Given the description of an element on the screen output the (x, y) to click on. 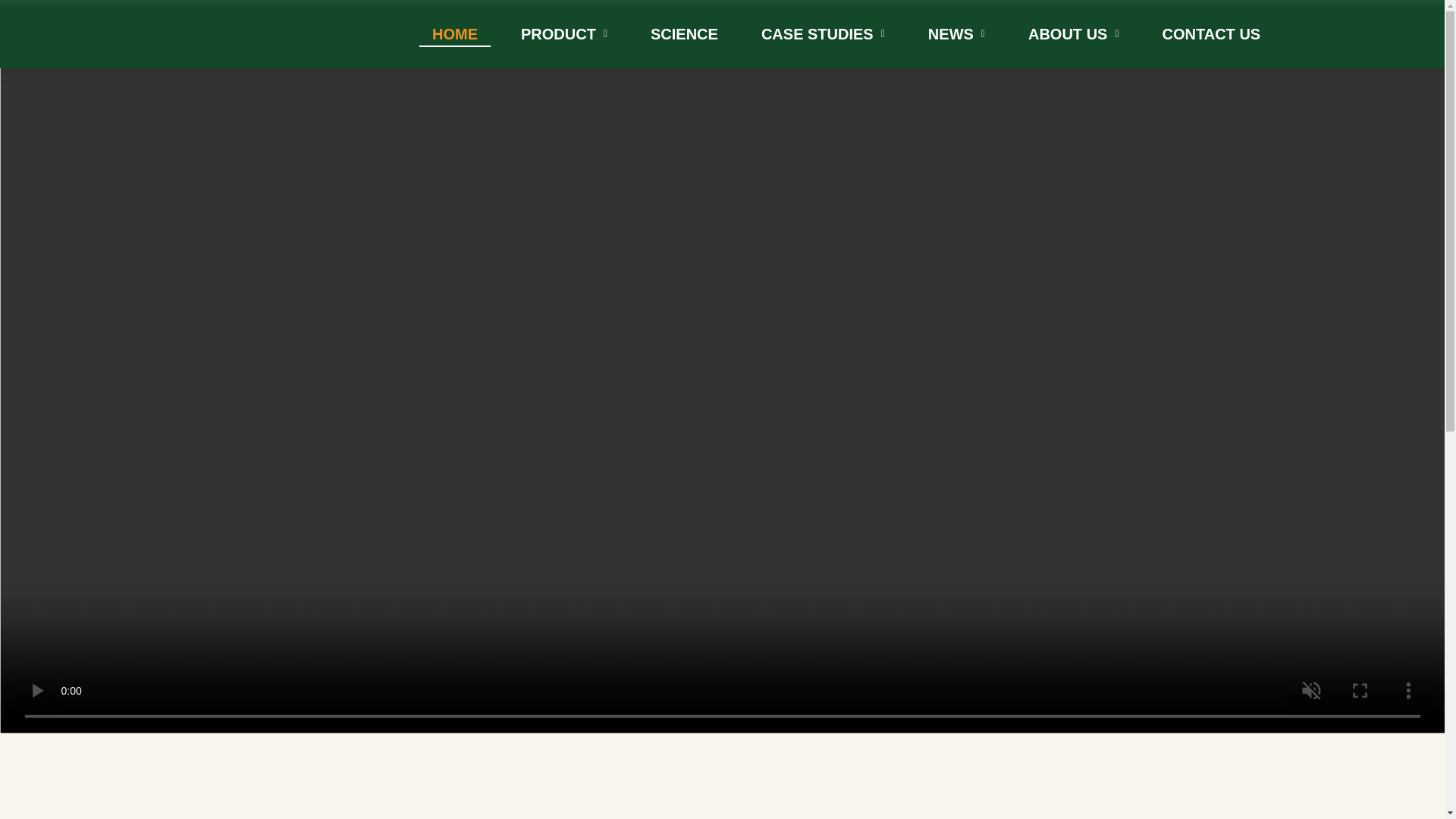
SCIENCE (683, 34)
NEWS (956, 34)
CASE STUDIES (823, 34)
ABOUT US (1073, 34)
CONTACT US (1212, 34)
HOME (454, 34)
PRODUCT (564, 34)
